Given the description of an element on the screen output the (x, y) to click on. 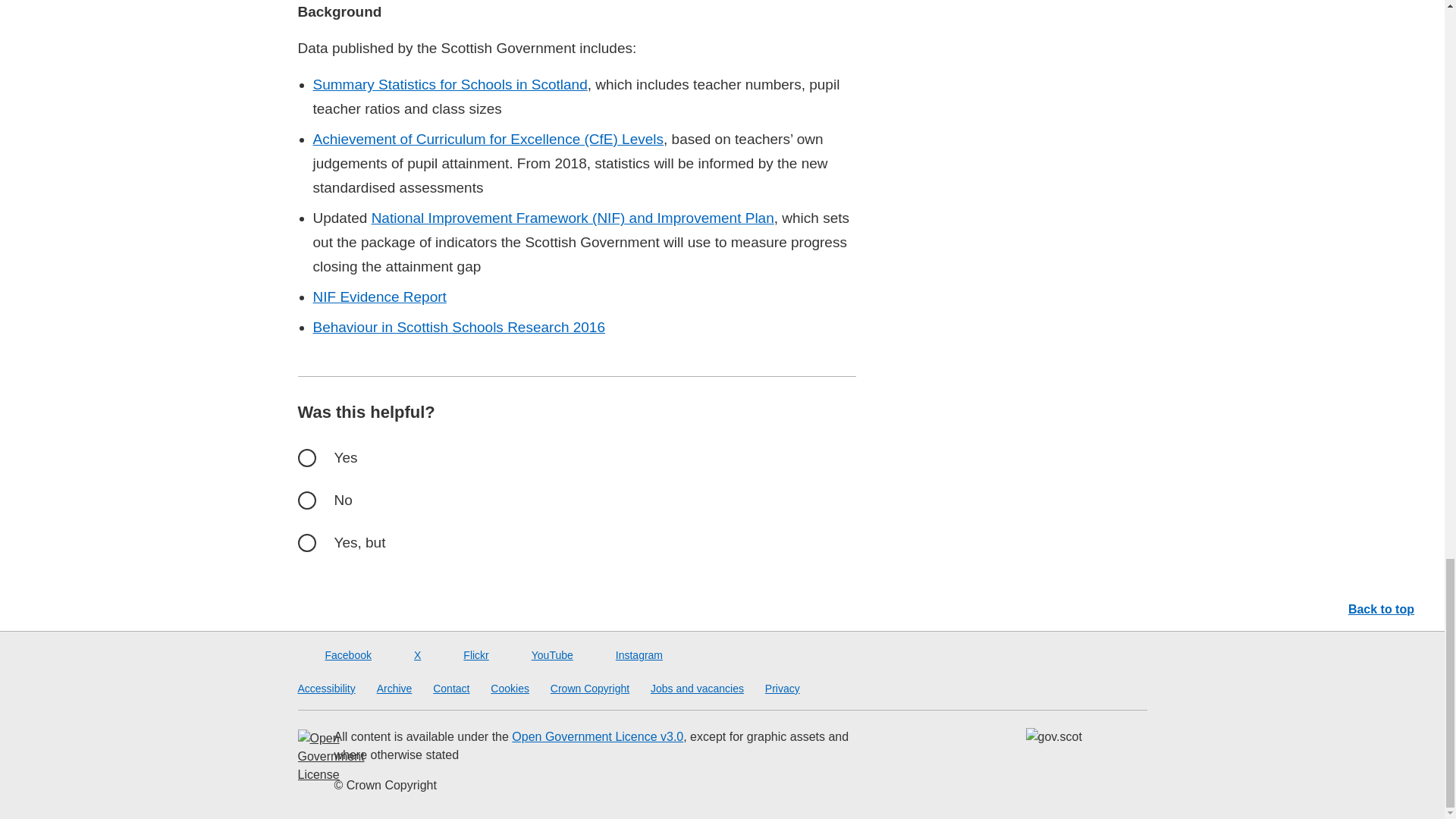
Behaviour in Scottish Schools Research 2016 (459, 326)
Flickr (465, 654)
Facebook (337, 654)
YouTube (541, 654)
Summary Statistics for Schools in Scotland (449, 84)
NIF Evidence Report (379, 296)
Facebook (337, 654)
Flickr (465, 654)
X (406, 654)
Instagram (628, 654)
